Given the description of an element on the screen output the (x, y) to click on. 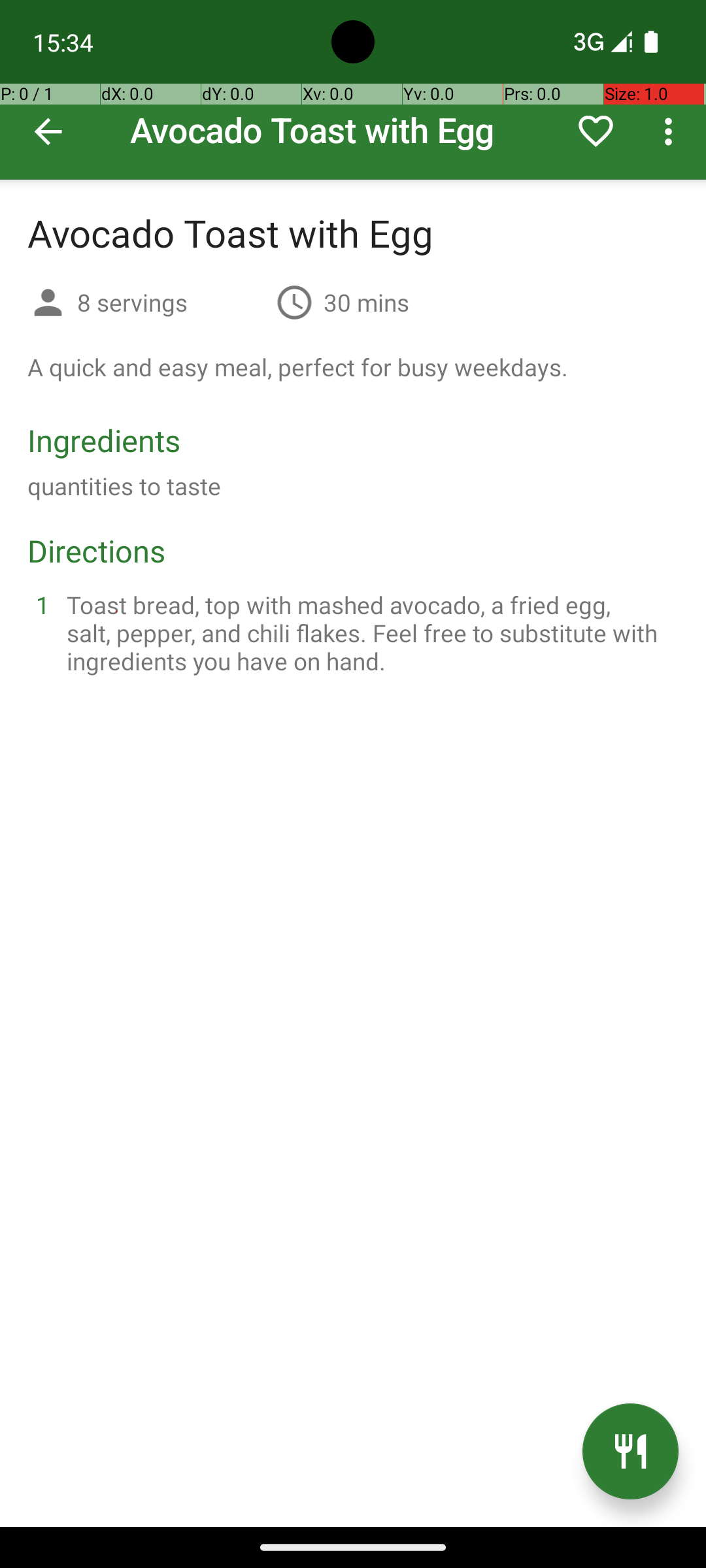
30 mins Element type: android.widget.TextView (366, 301)
quantities to taste Element type: android.widget.TextView (123, 485)
Toast bread, top with mashed avocado, a fried egg, salt, pepper, and chili flakes. Feel free to substitute with ingredients you have on hand. Element type: android.widget.TextView (368, 632)
